Given the description of an element on the screen output the (x, y) to click on. 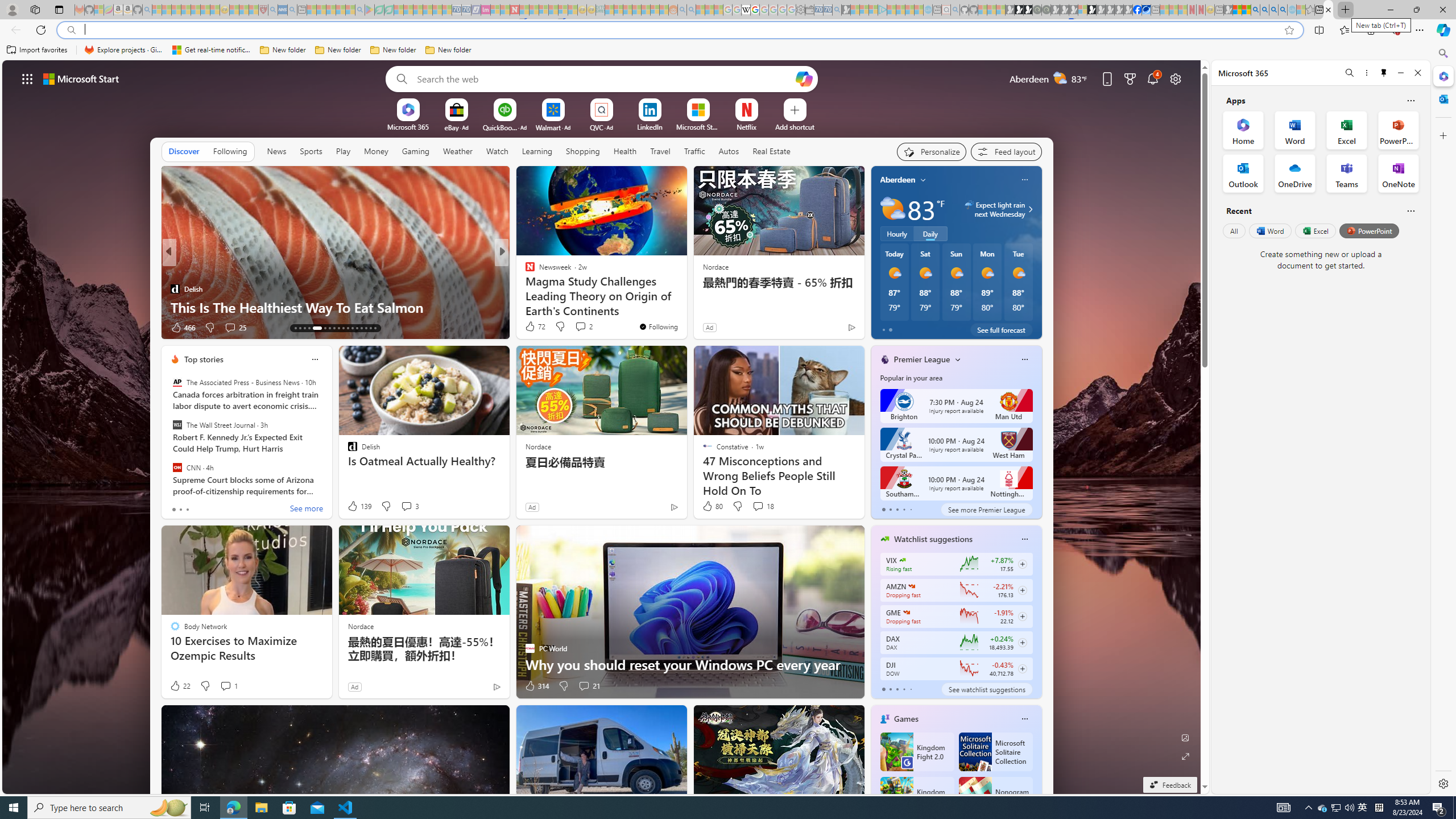
You're following Newsweek (657, 326)
Money (375, 151)
65 Like (530, 327)
It's officially the end for Windows 10! (684, 307)
Favorites bar (715, 49)
AutomationID: waffle (27, 78)
Class: follow-button  m (1021, 668)
